Given the description of an element on the screen output the (x, y) to click on. 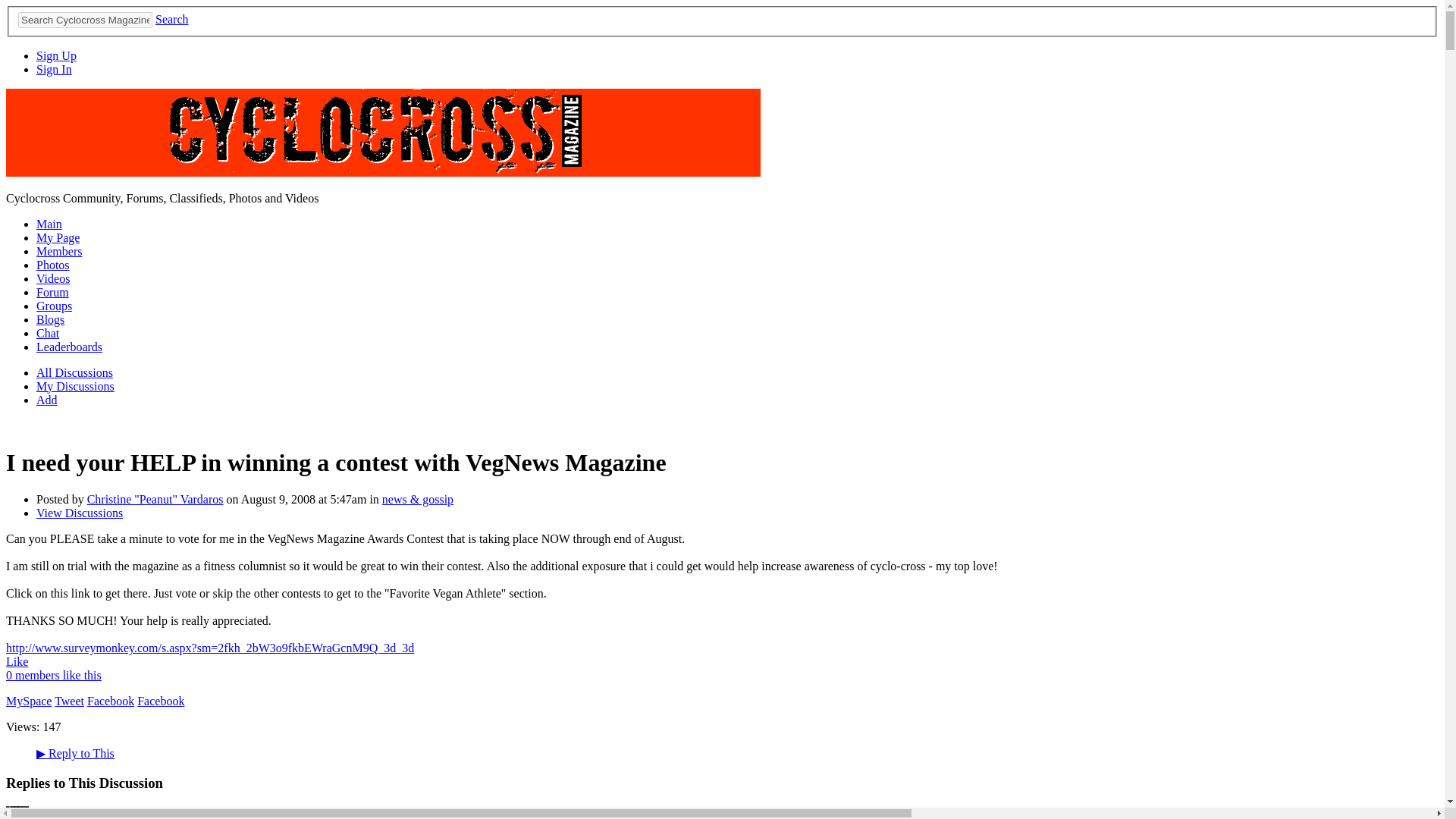
Chat (47, 332)
Groups (53, 305)
0 members like this (53, 675)
MySpace (27, 700)
Search Cyclocross Magazine (84, 19)
All Discussions (74, 372)
Sign In (53, 69)
View Discussions (79, 512)
Facebook (160, 700)
Photos (52, 264)
